Given the description of an element on the screen output the (x, y) to click on. 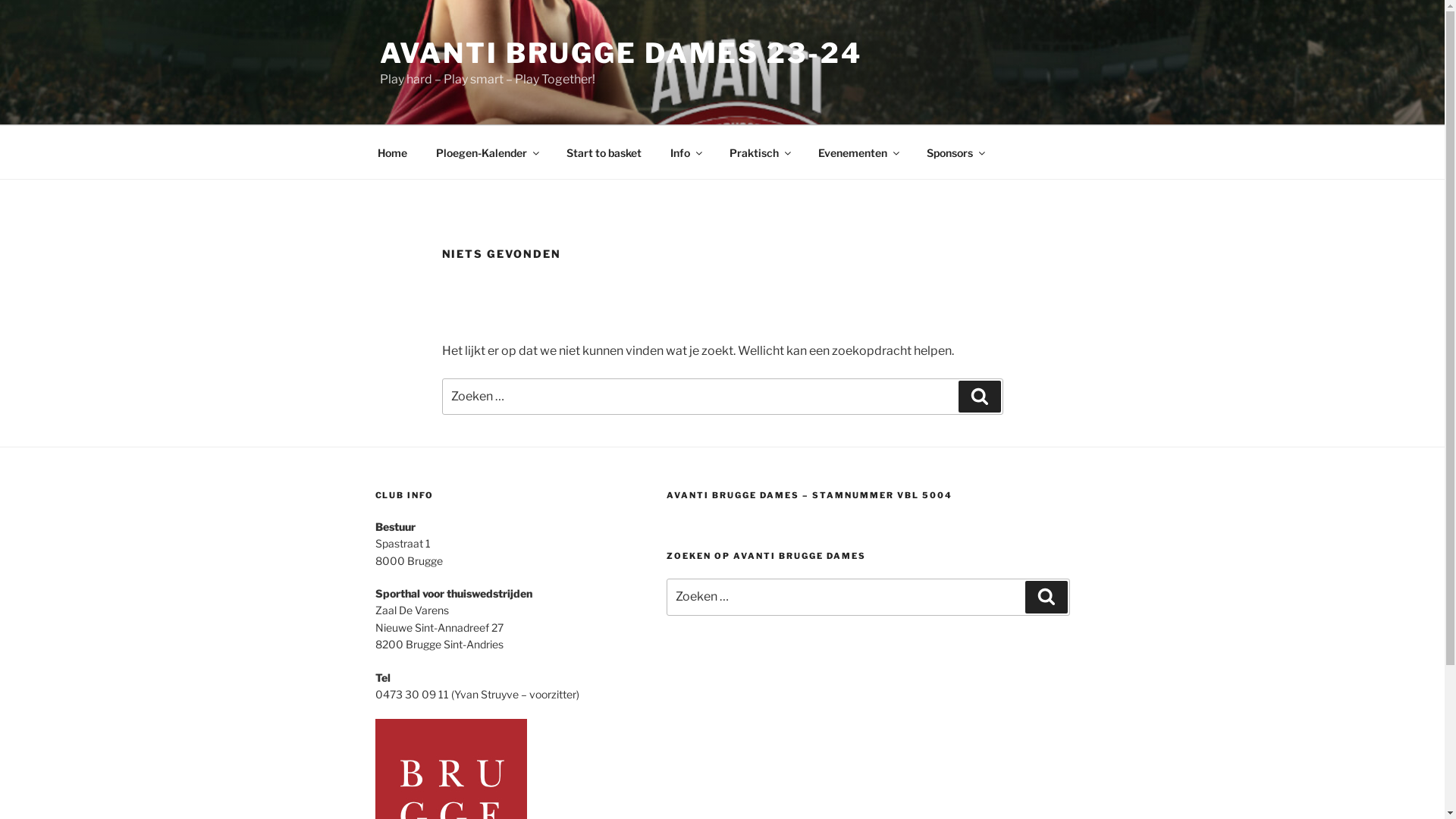
Zoeken Element type: text (979, 396)
Praktisch Element type: text (758, 151)
AVANTI BRUGGE DAMES 23-24 Element type: text (620, 52)
Home Element type: text (392, 151)
Evenementen Element type: text (858, 151)
Sponsors Element type: text (954, 151)
Ploegen-Kalender Element type: text (487, 151)
Zoeken Element type: text (1046, 596)
Start to basket Element type: text (604, 151)
Info Element type: text (684, 151)
